Given the description of an element on the screen output the (x, y) to click on. 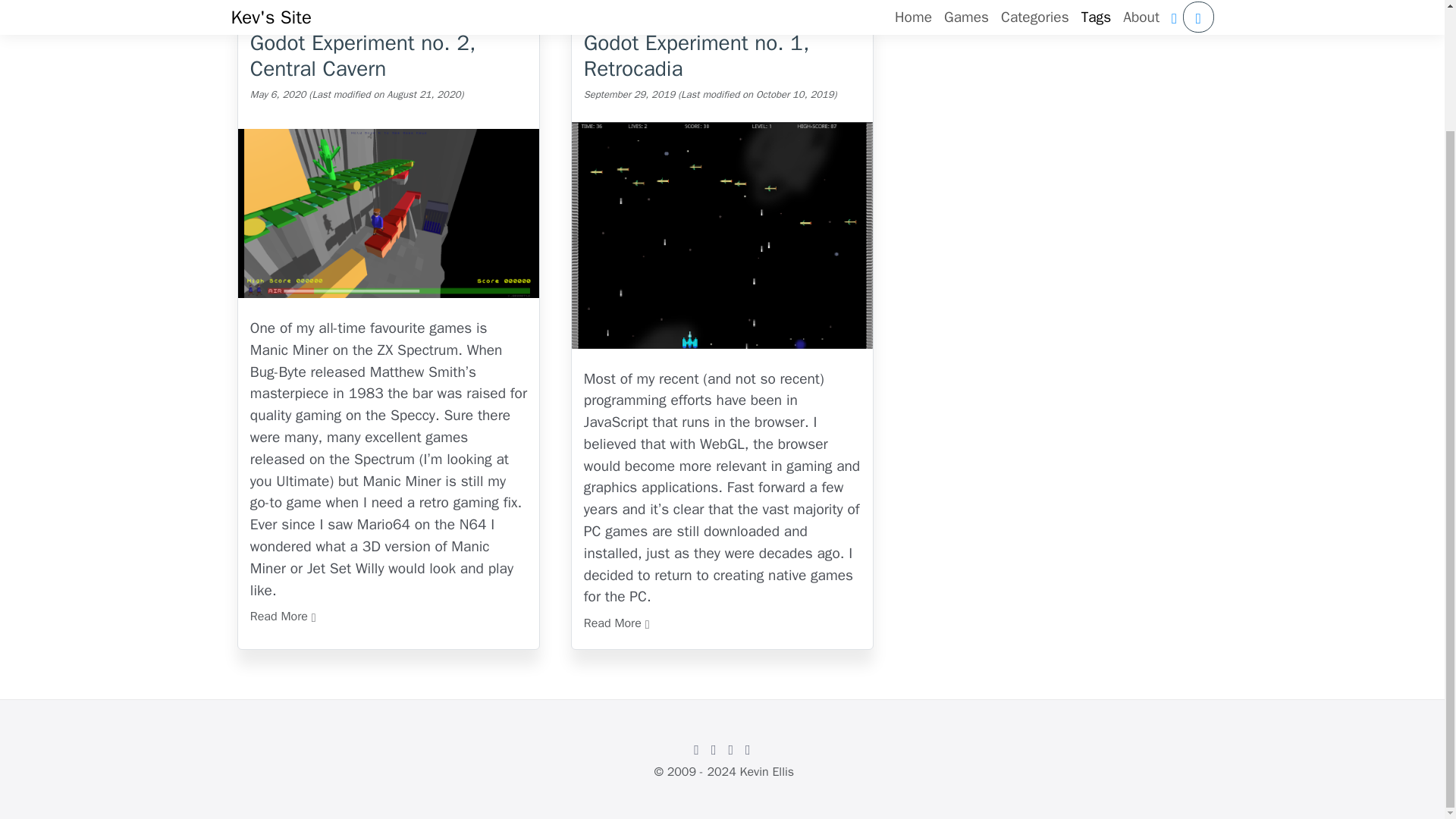
LinkedIn (730, 747)
GitHub (695, 747)
Twitter (713, 747)
Youtube (748, 747)
